Given the description of an element on the screen output the (x, y) to click on. 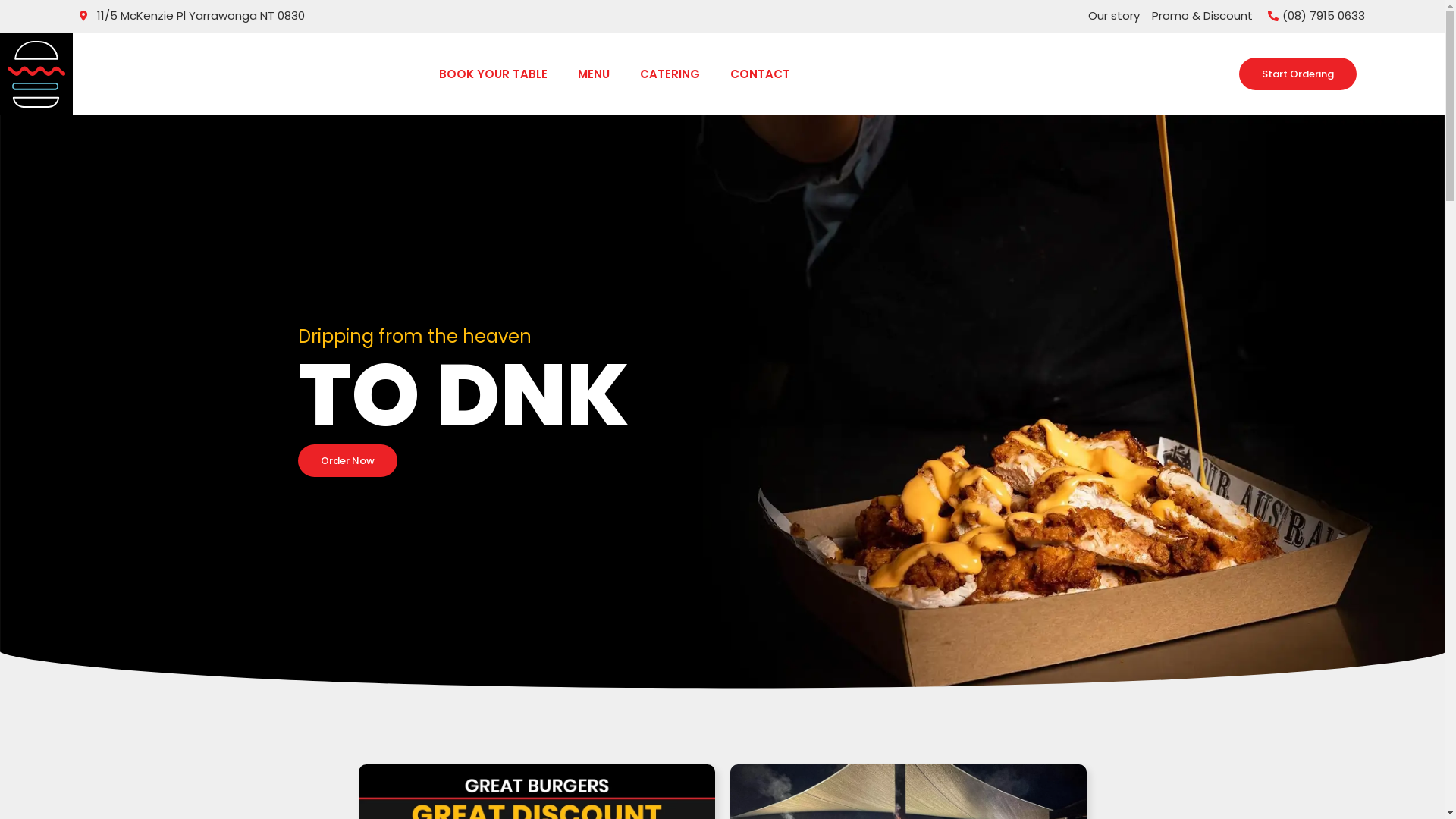
BOOK YOUR TABLE Element type: text (492, 73)
CONTACT Element type: text (760, 73)
Our story Element type: text (1113, 16)
Start Ordering Element type: text (1297, 73)
Promo & Discount Element type: text (1201, 16)
Order Now Element type: text (346, 460)
MENU Element type: text (593, 73)
CATERING Element type: text (669, 73)
